Given the description of an element on the screen output the (x, y) to click on. 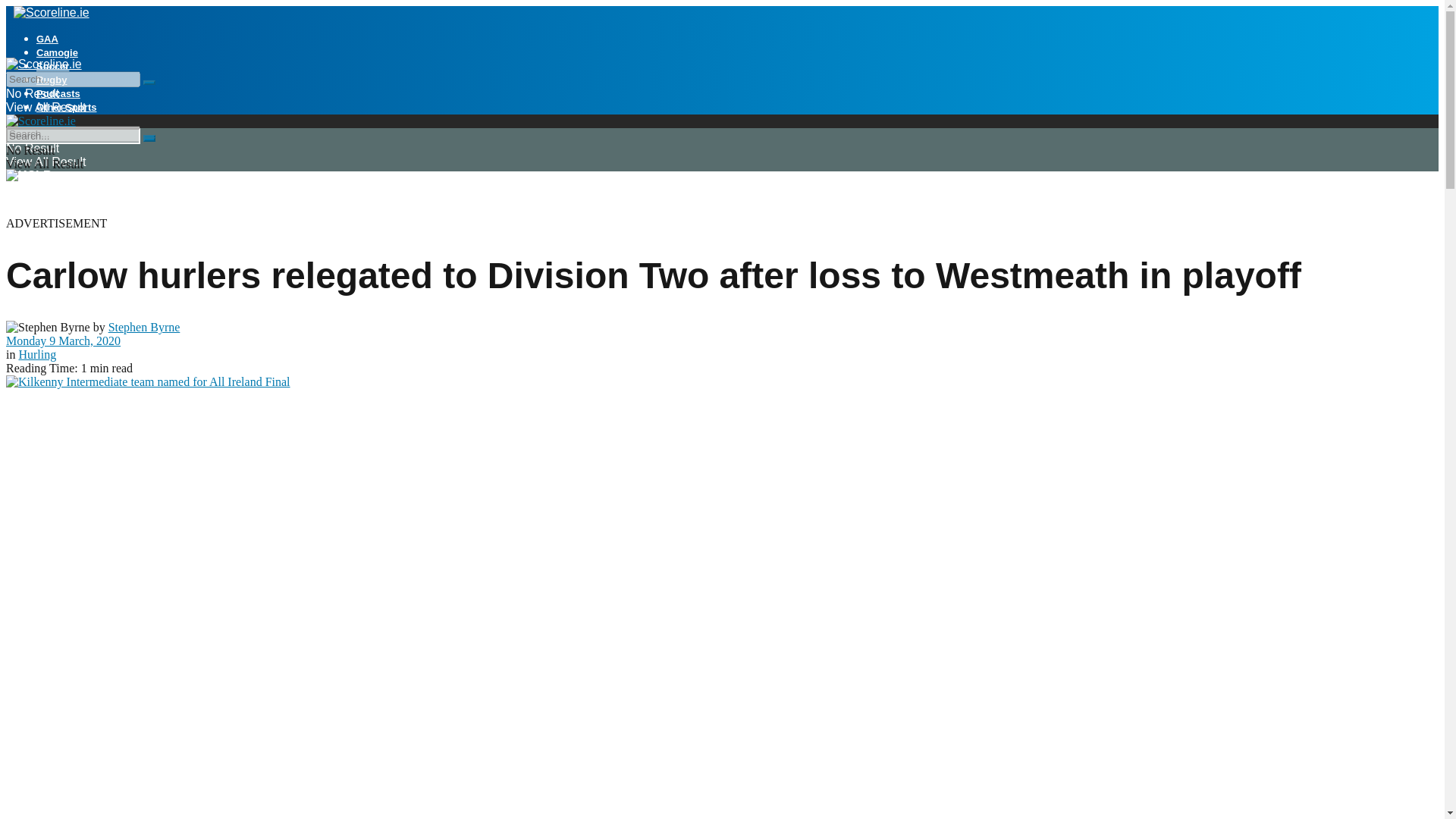
Camogie (57, 52)
Monday 9 March, 2020 (62, 340)
GAA (47, 39)
Podcasts (58, 93)
Soccer (52, 66)
Rugby (51, 79)
Hurling (36, 354)
Stephen Byrne (143, 327)
Other Sports (66, 107)
